Given the description of an element on the screen output the (x, y) to click on. 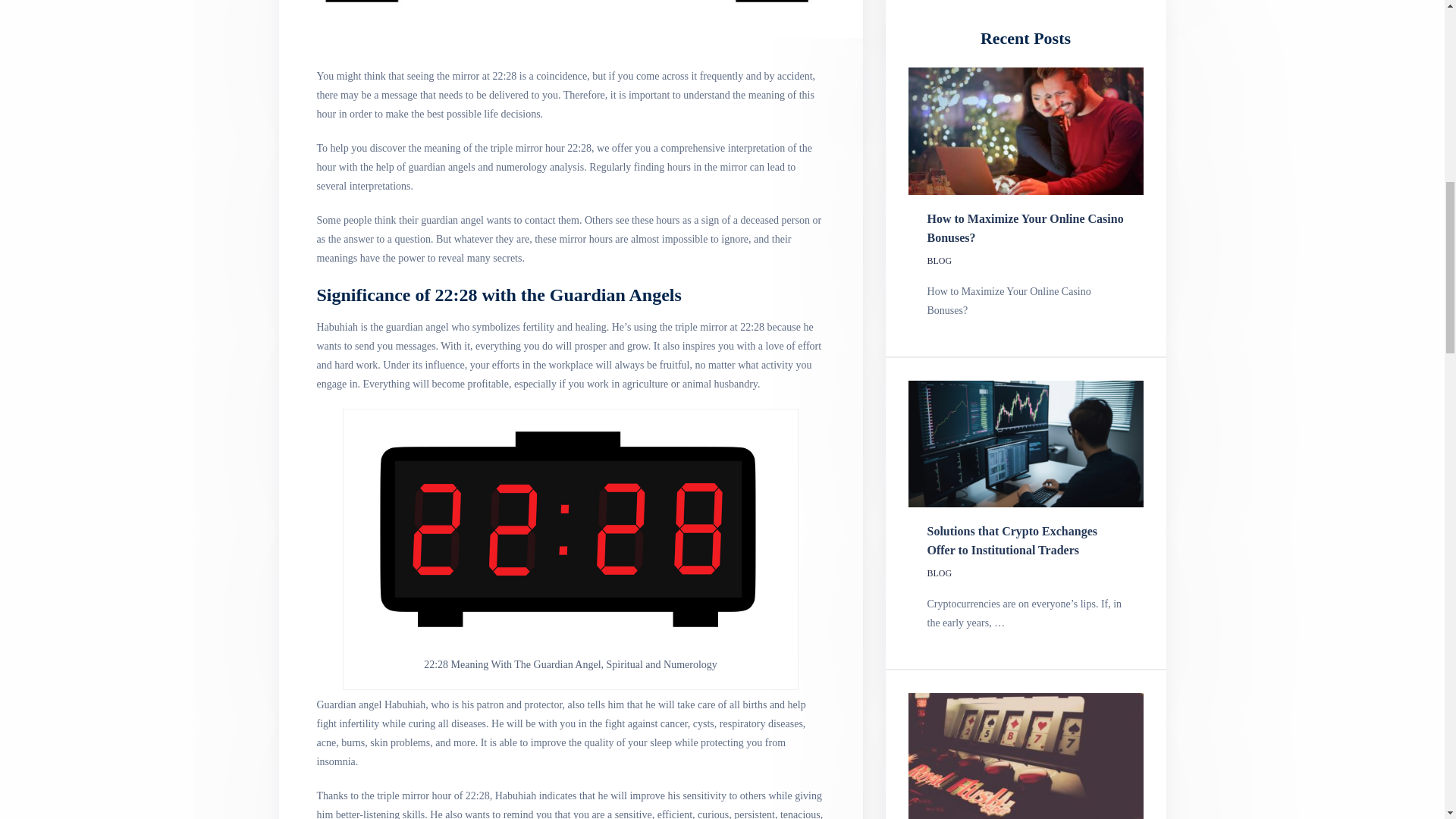
BLOG (939, 573)
BLOG (939, 261)
How to Maximize Your Online Casino Bonuses? (1025, 228)
